Given the description of an element on the screen output the (x, y) to click on. 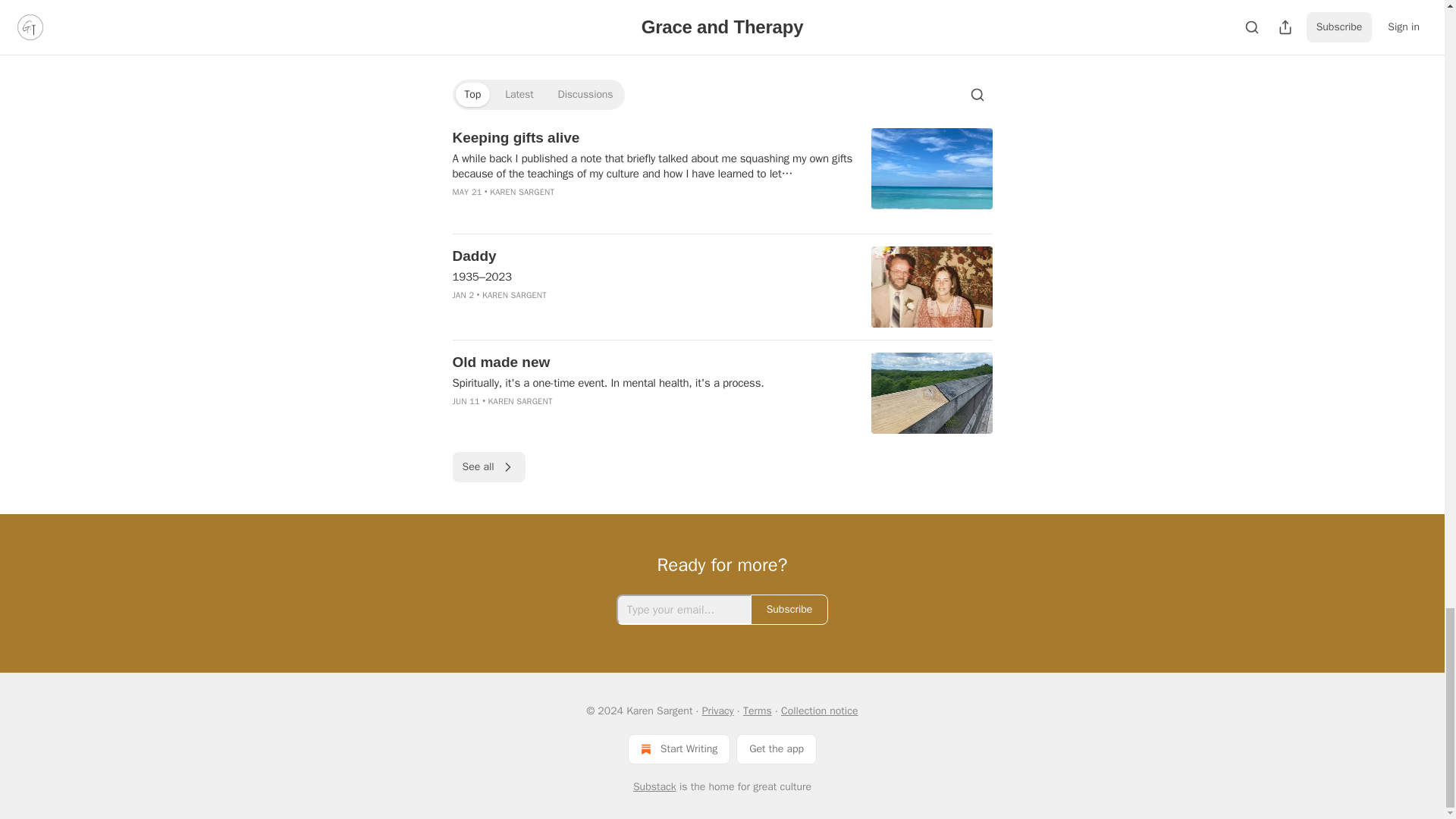
Discussions (585, 94)
Top (471, 94)
Latest (518, 94)
